Given the description of an element on the screen output the (x, y) to click on. 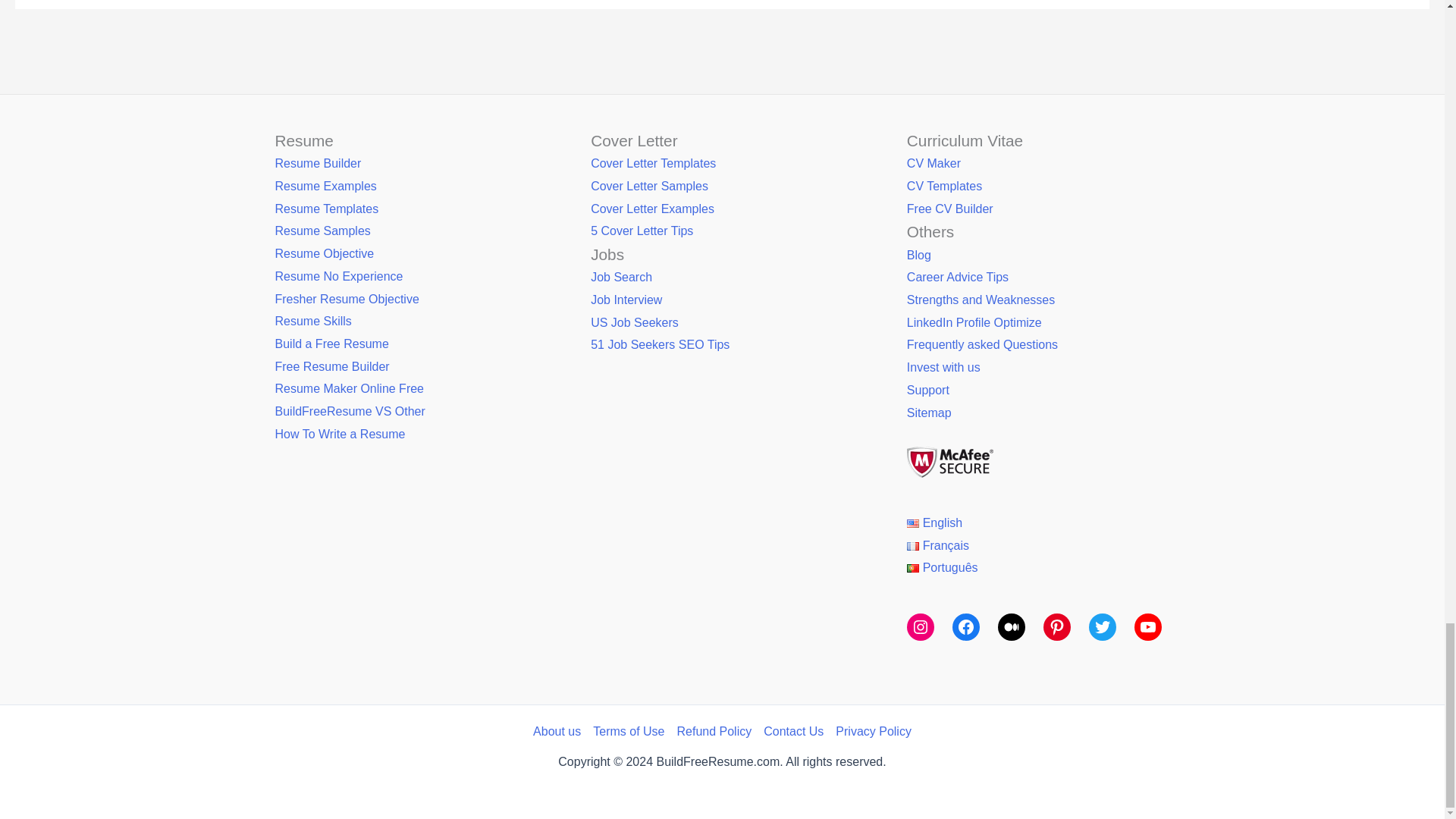
build free resume mcafee secure (949, 461)
